Given the description of an element on the screen output the (x, y) to click on. 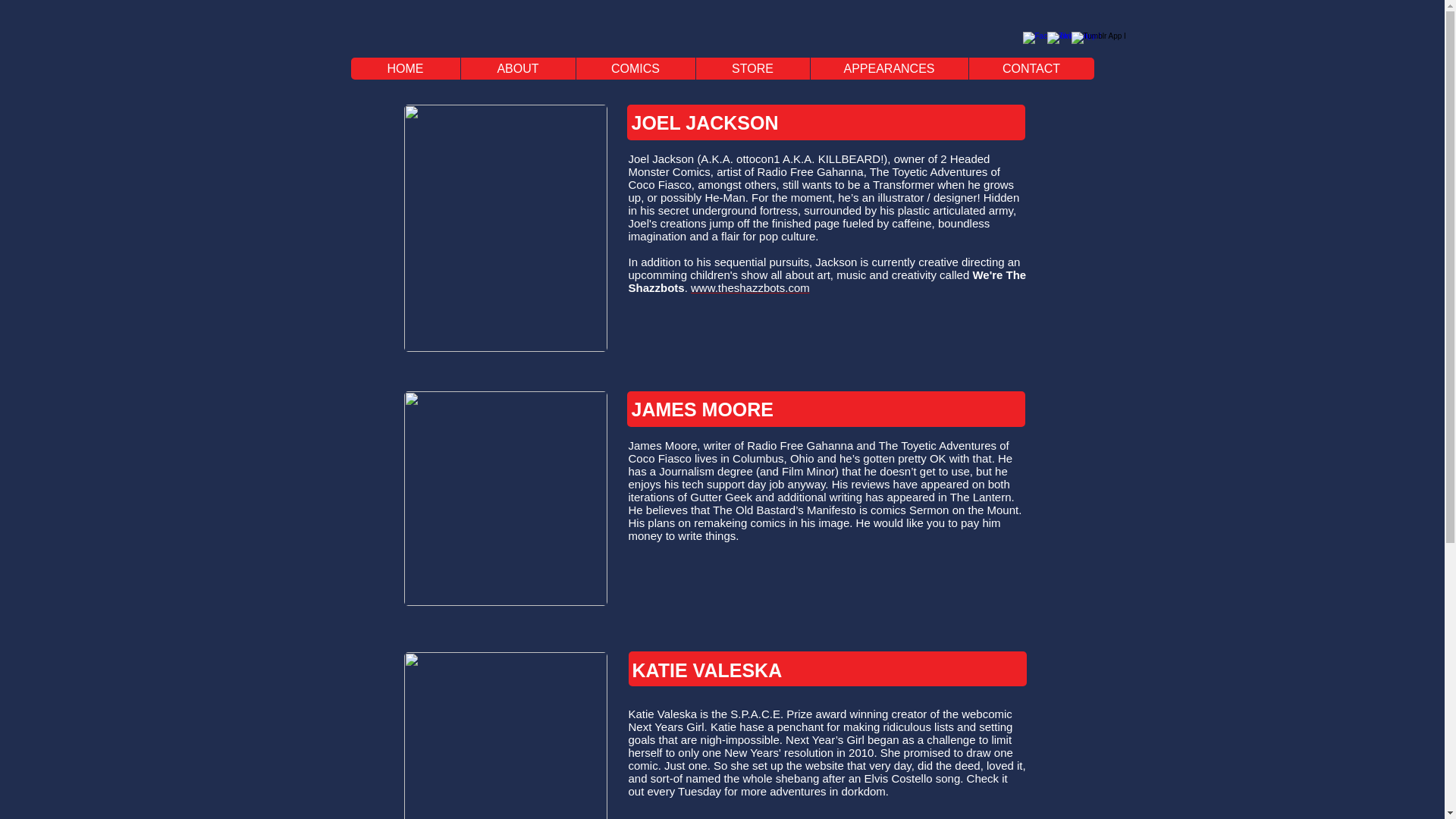
CONTACT (1030, 68)
APPEARANCES (888, 68)
james moore headshotsm.jpg (505, 498)
STORE (751, 68)
www.theshazzbots.com (749, 287)
HOME (405, 68)
